Given the description of an element on the screen output the (x, y) to click on. 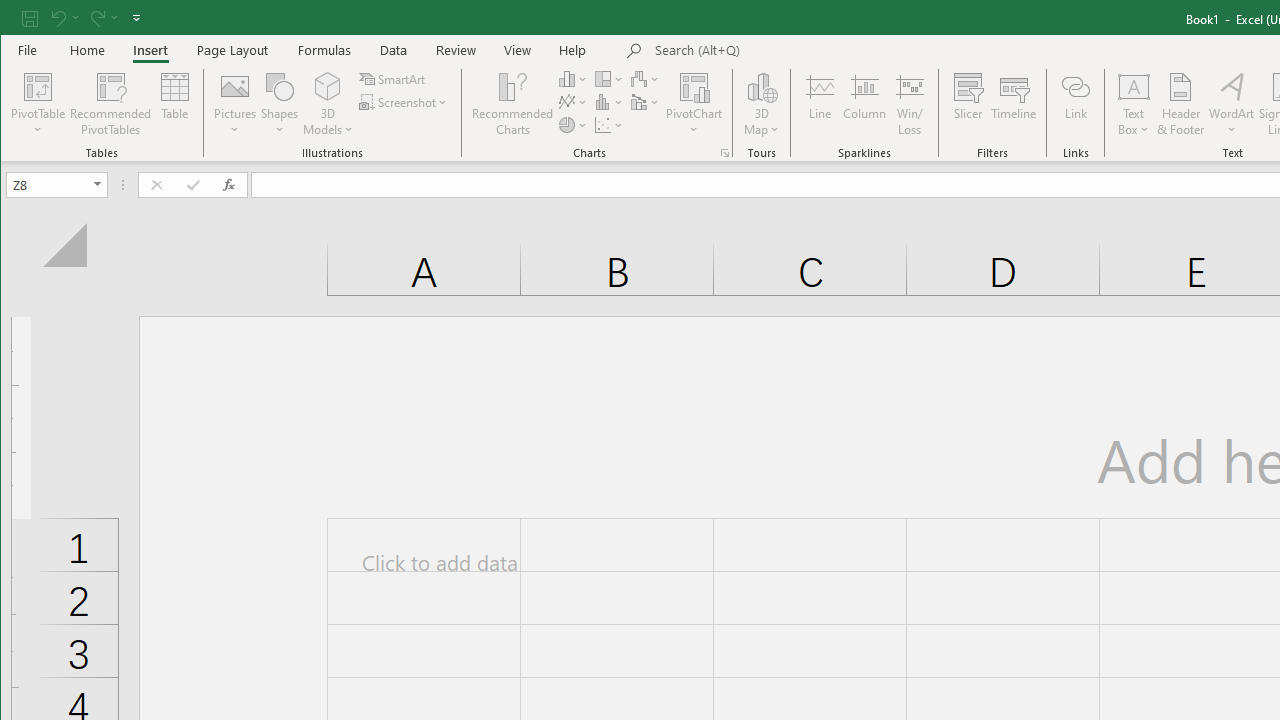
Insert Statistic Chart (609, 101)
Draw Horizontal Text Box (1133, 86)
Shapes (279, 104)
Insert Combo Chart (646, 101)
Slicer... (968, 104)
SmartArt... (393, 78)
Timeline (1014, 104)
Screenshot (404, 101)
